Given the description of an element on the screen output the (x, y) to click on. 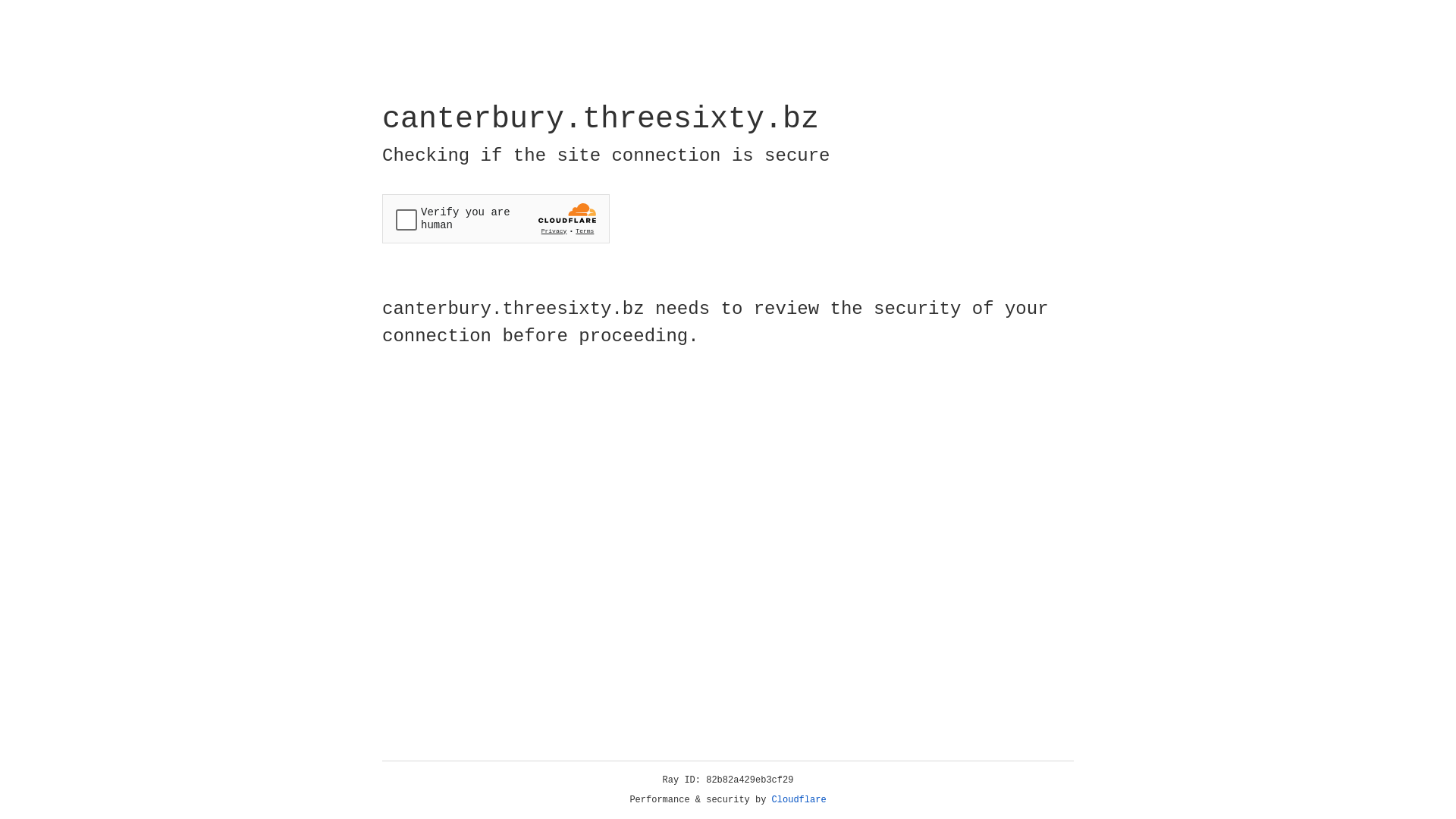
Widget containing a Cloudflare security challenge Element type: hover (495, 218)
Cloudflare Element type: text (798, 799)
